Given the description of an element on the screen output the (x, y) to click on. 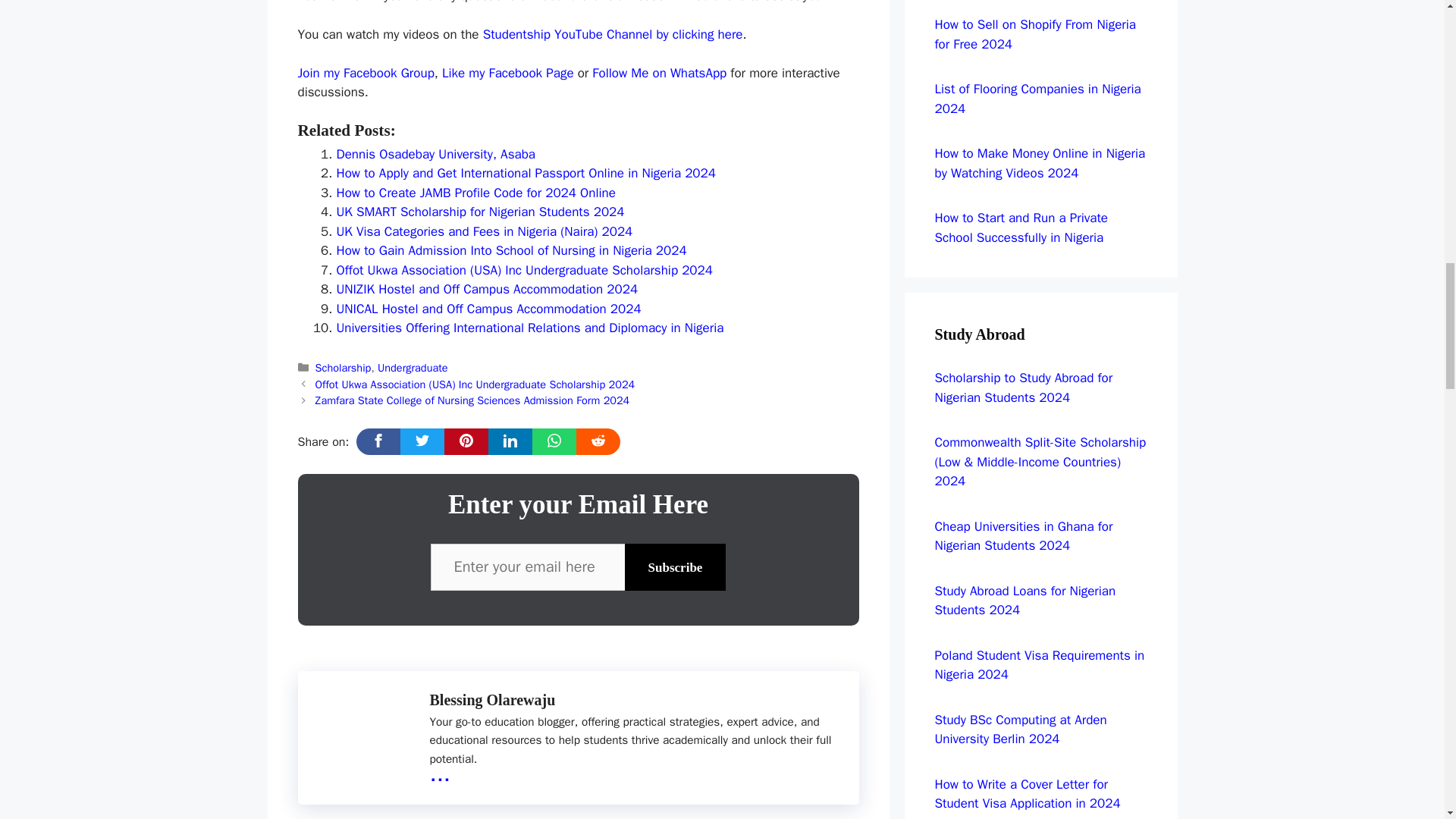
UK SMART Scholarship for Nigerian Students 2024 (480, 211)
Dennis Osadebay University, Asaba (435, 154)
Subscribe (675, 566)
UNIZIK Hostel and Off Campus Accommodation 2024 (487, 289)
Studentship YouTube Channel by clicking here (612, 34)
Join my Facebook Group (365, 73)
How to Create JAMB Profile Code for 2024 Online (475, 192)
UNICAL Hostel and Off Campus Accommodation 2024 (489, 308)
